Given the description of an element on the screen output the (x, y) to click on. 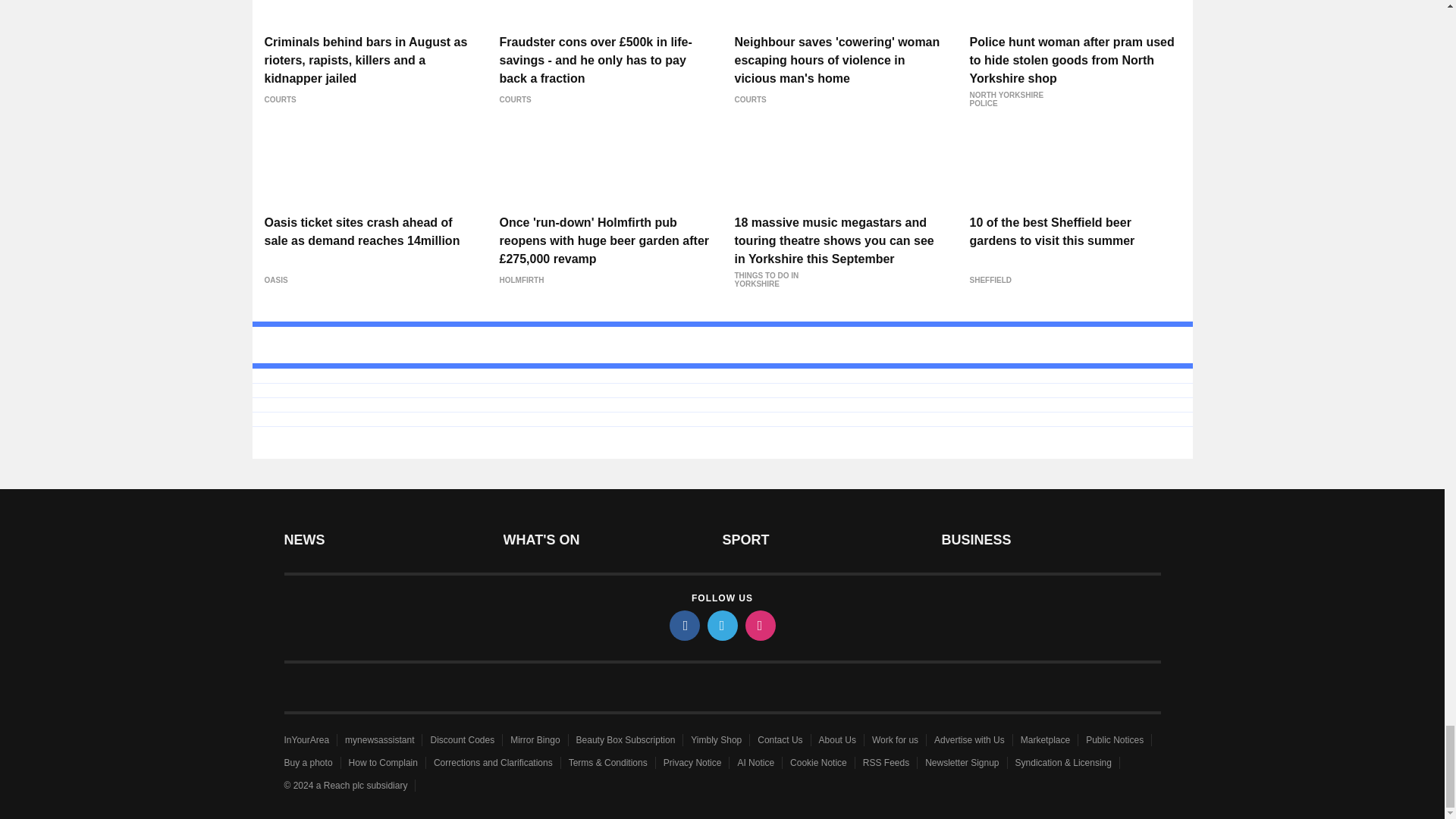
facebook (683, 625)
instagram (759, 625)
twitter (721, 625)
